Given the description of an element on the screen output the (x, y) to click on. 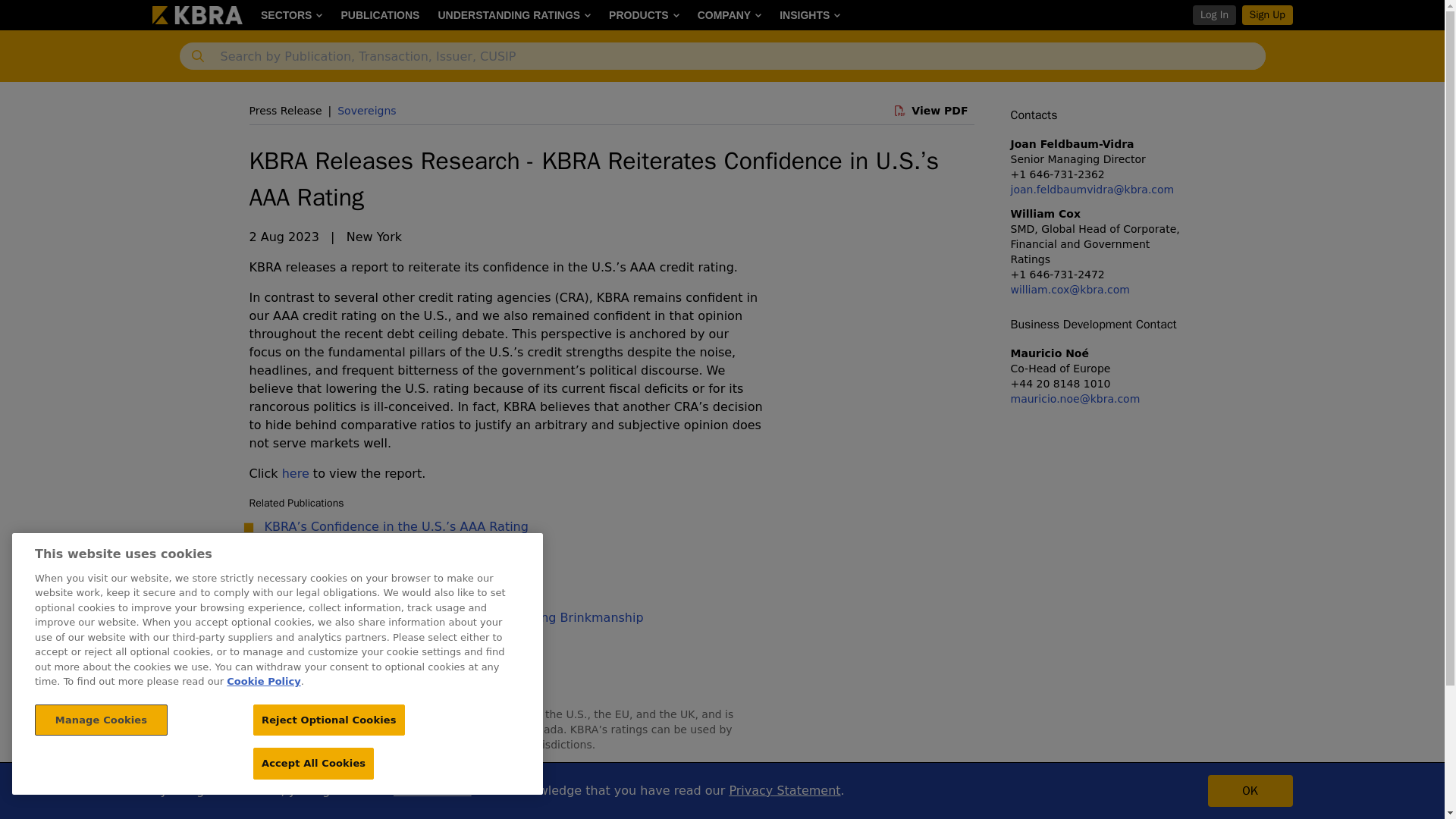
SECTORS (291, 15)
Log In (1213, 14)
PRODUCTS (643, 15)
COMPANY (729, 15)
UNDERSTANDING RATINGS (513, 15)
PUBLICATIONS (379, 15)
INSIGHTS (809, 15)
